Given the description of an element on the screen output the (x, y) to click on. 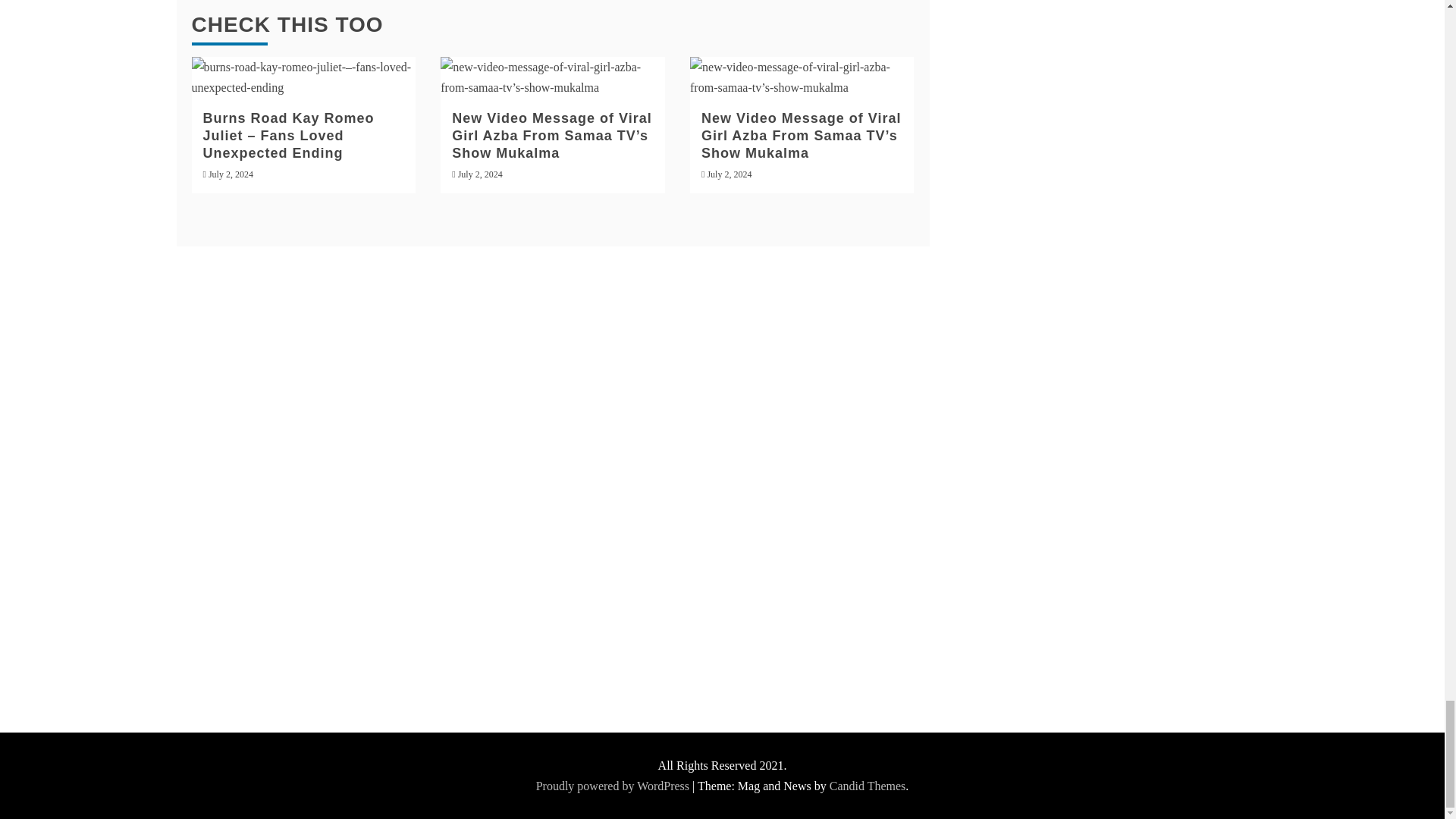
July 2, 2024 (480, 173)
July 2, 2024 (728, 173)
July 2, 2024 (230, 173)
